Given the description of an element on the screen output the (x, y) to click on. 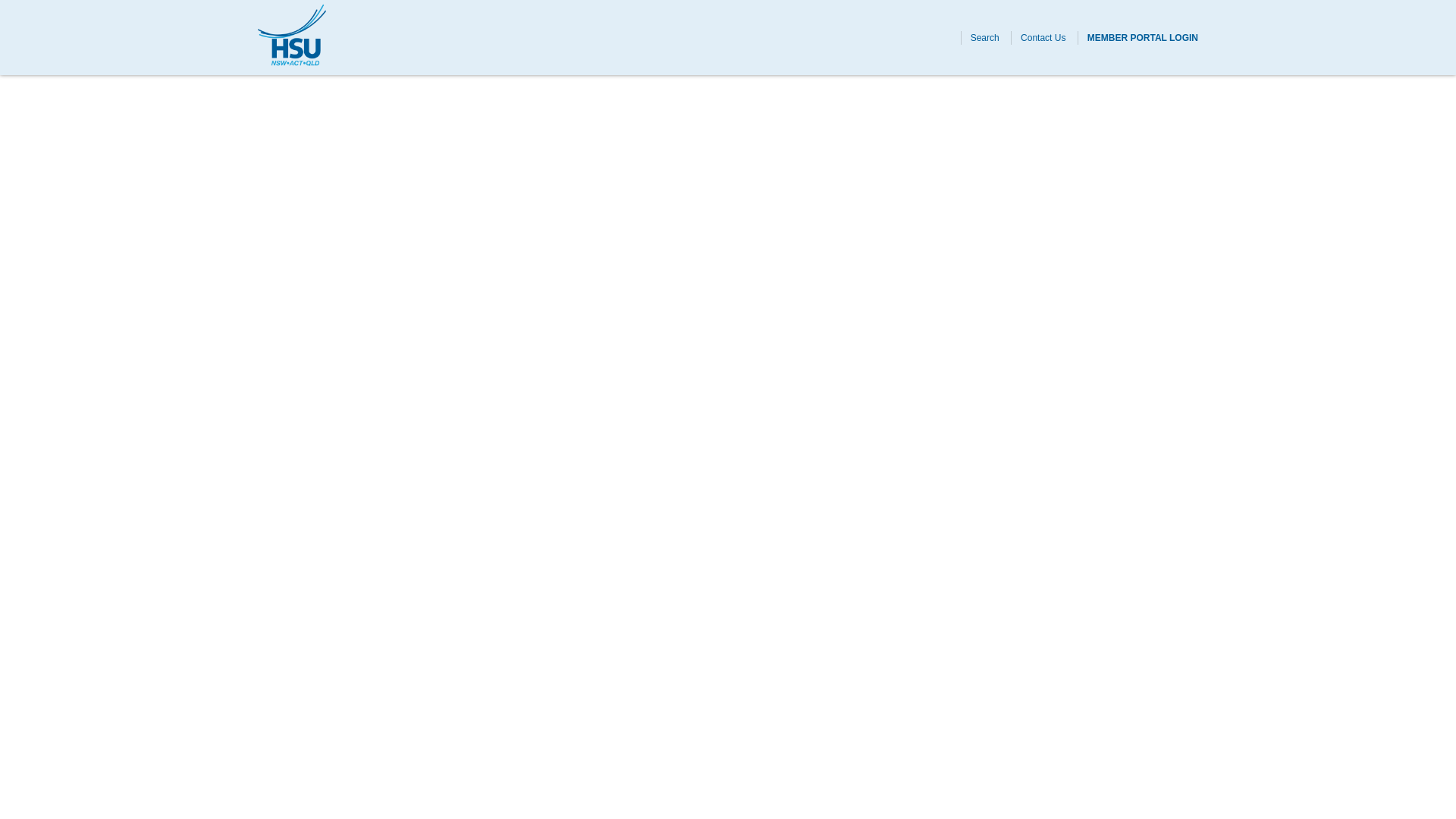
MEMBER PORTAL LOGIN (1142, 36)
Contact Us (1042, 36)
Search (984, 36)
